Given the description of an element on the screen output the (x, y) to click on. 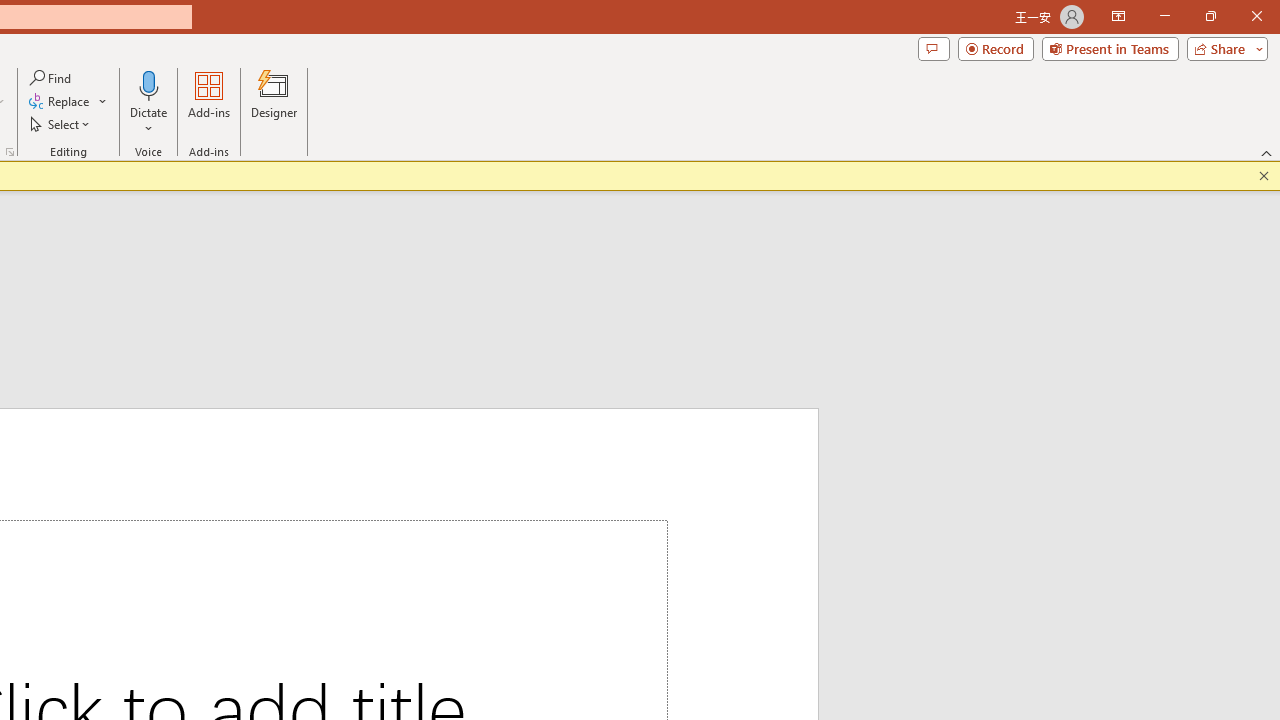
Find... (51, 78)
